Given the description of an element on the screen output the (x, y) to click on. 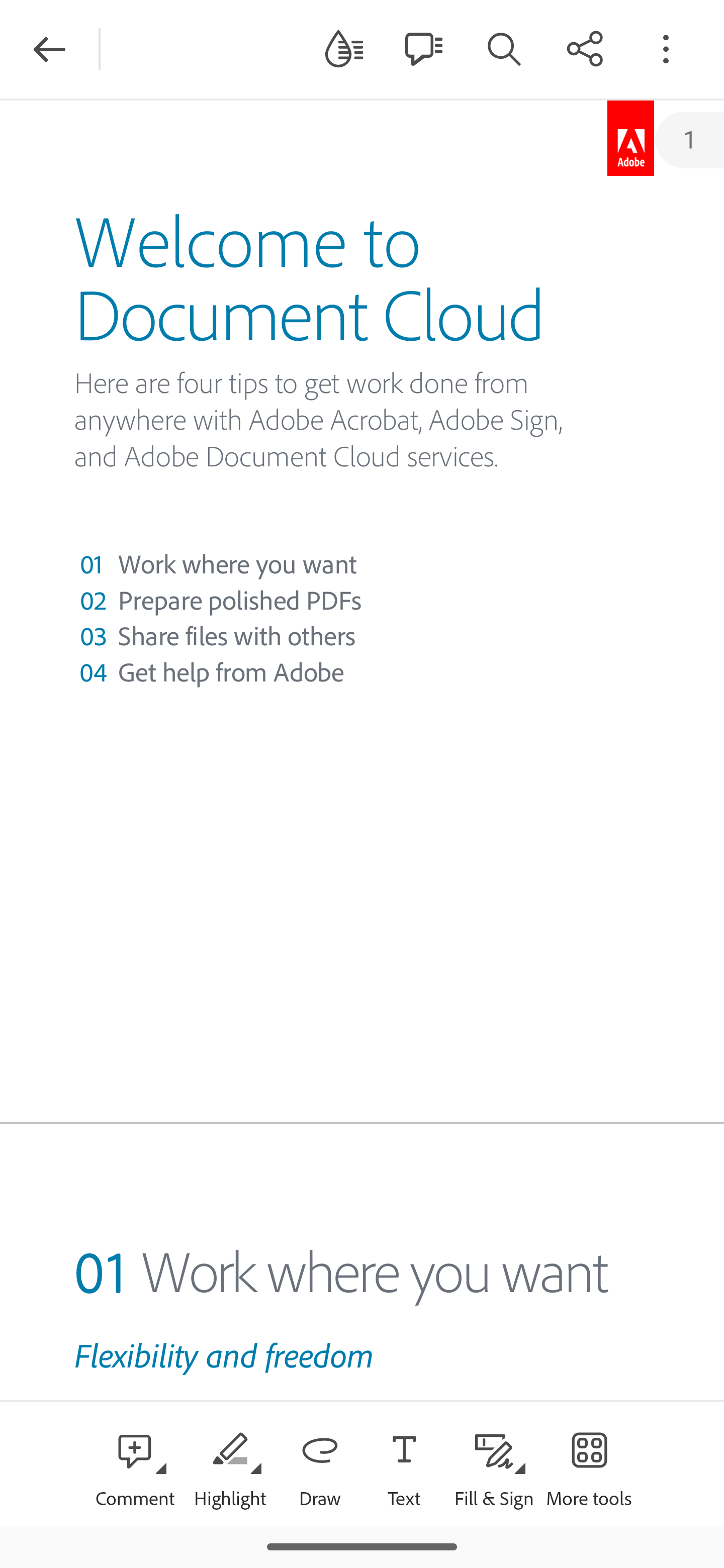
Back (49, 49)
Turn on Liquid Mode (343, 48)
Find keyword in document (503, 48)
Share this document with others (584, 48)
More options (665, 48)
Comments (423, 48)
Comment (134, 1463)
Highlight (229, 1463)
Draw (319, 1463)
Text (404, 1463)
Fill & Sign (493, 1463)
More tools (588, 1463)
